Given the description of an element on the screen output the (x, y) to click on. 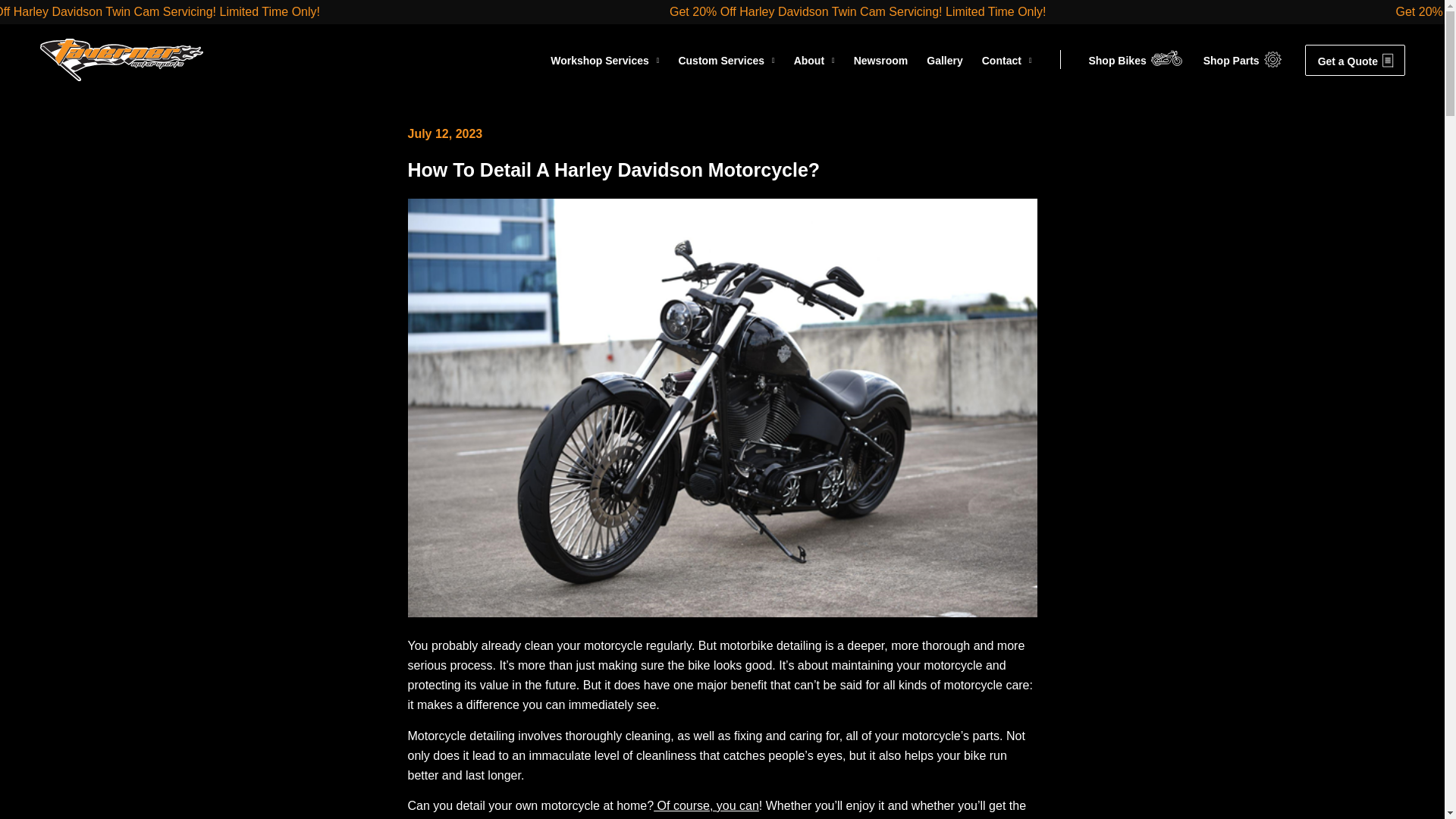
Shop Bikes (1116, 59)
About (813, 59)
Newsroom (880, 59)
Contact (1006, 59)
Custom Services (726, 59)
Gallery (944, 59)
Workshop Services (604, 59)
